Given the description of an element on the screen output the (x, y) to click on. 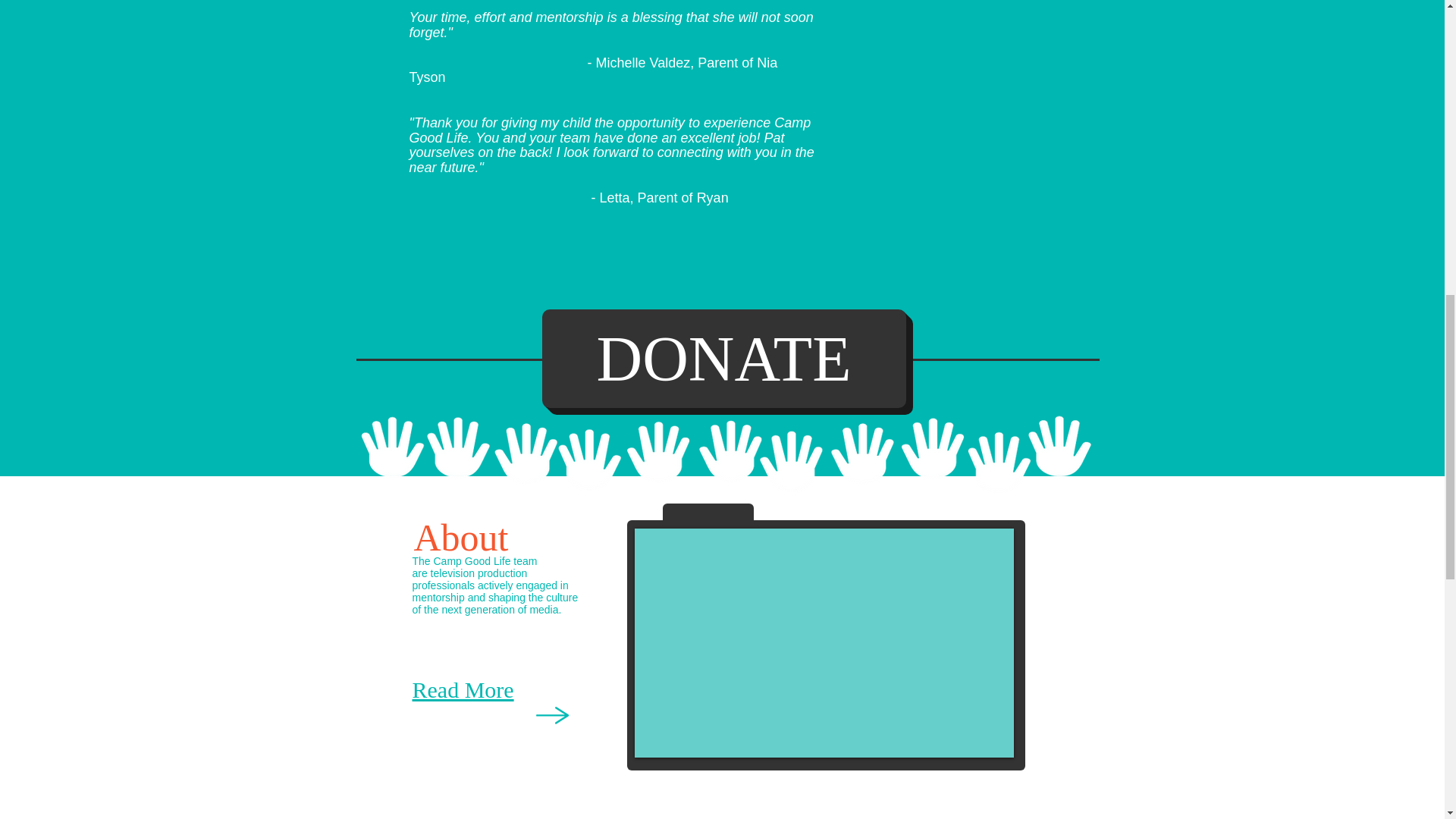
DONATE (723, 358)
External Vimeo (823, 642)
